Given the description of an element on the screen output the (x, y) to click on. 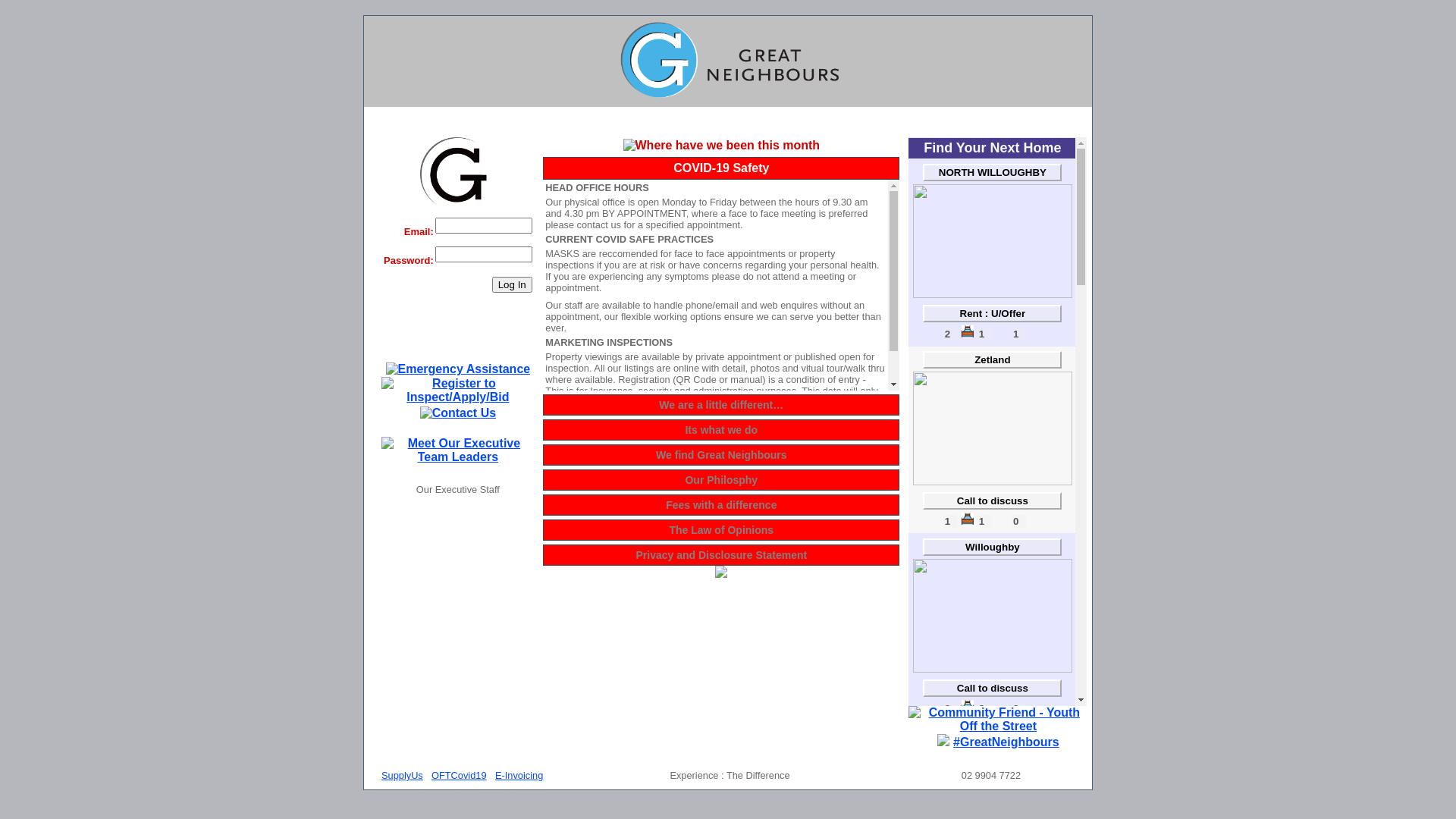
Log In Element type: text (512, 284)
Meet Our Executive People Element type: hover (457, 450)
Home Element type: hover (735, 59)
#GreatNeighbours Element type: text (1006, 742)
E-Invoicing Element type: text (518, 775)
Click to Contact Us Element type: hover (457, 413)
Click to Register / Inspect / Apply /Bid Element type: hover (457, 390)
OFTCovid19 Element type: text (458, 775)
SOLD
1 Bedroom, 1 Bathroom, Apartment Click for More Element type: hover (992, 480)
Important Updates Element type: hover (998, 719)
Click to find out more Element type: hover (457, 369)
SupplyUs Element type: text (402, 775)
